Given the description of an element on the screen output the (x, y) to click on. 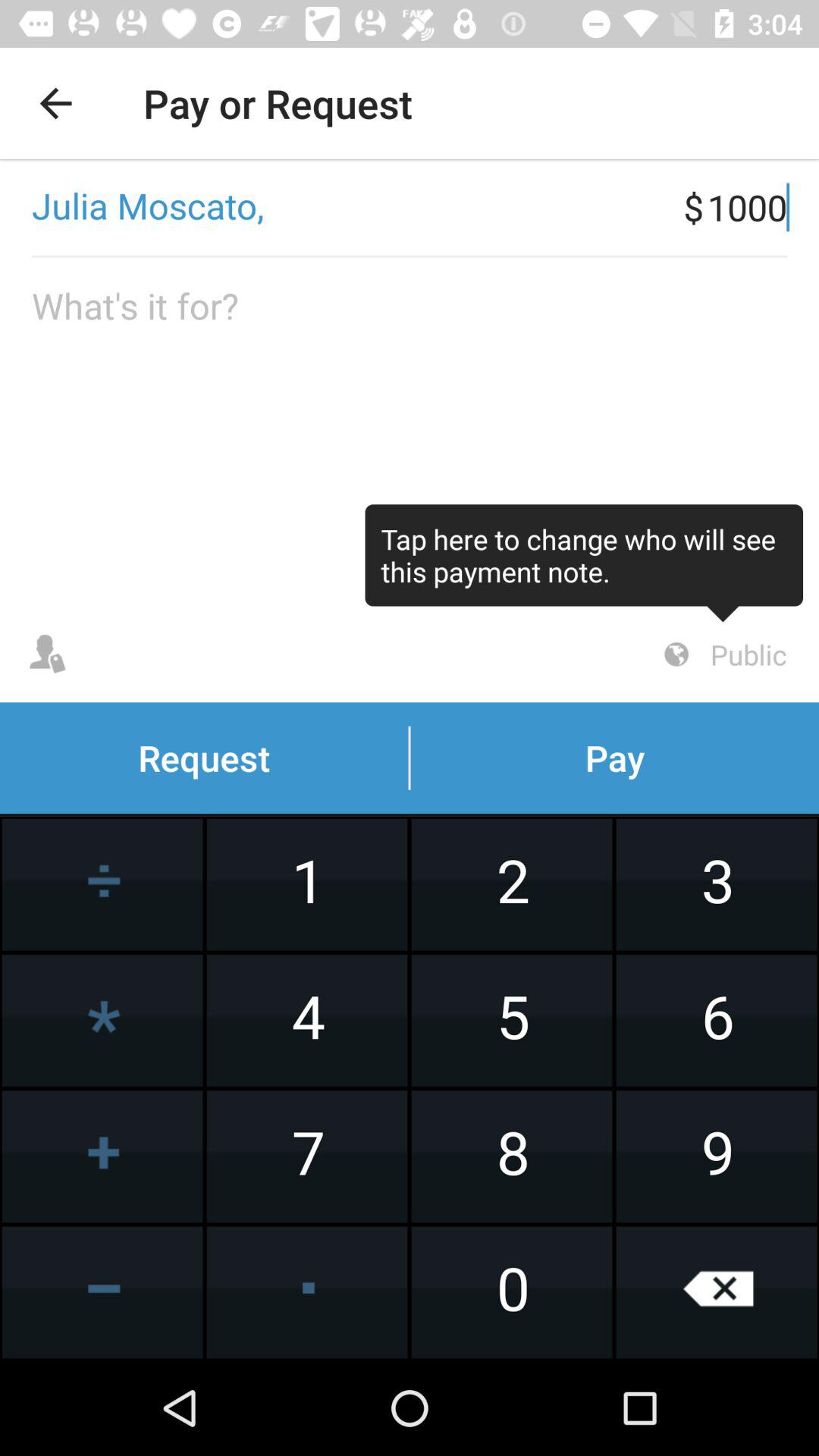
select the item next to the pay or request app (55, 103)
